Given the description of an element on the screen output the (x, y) to click on. 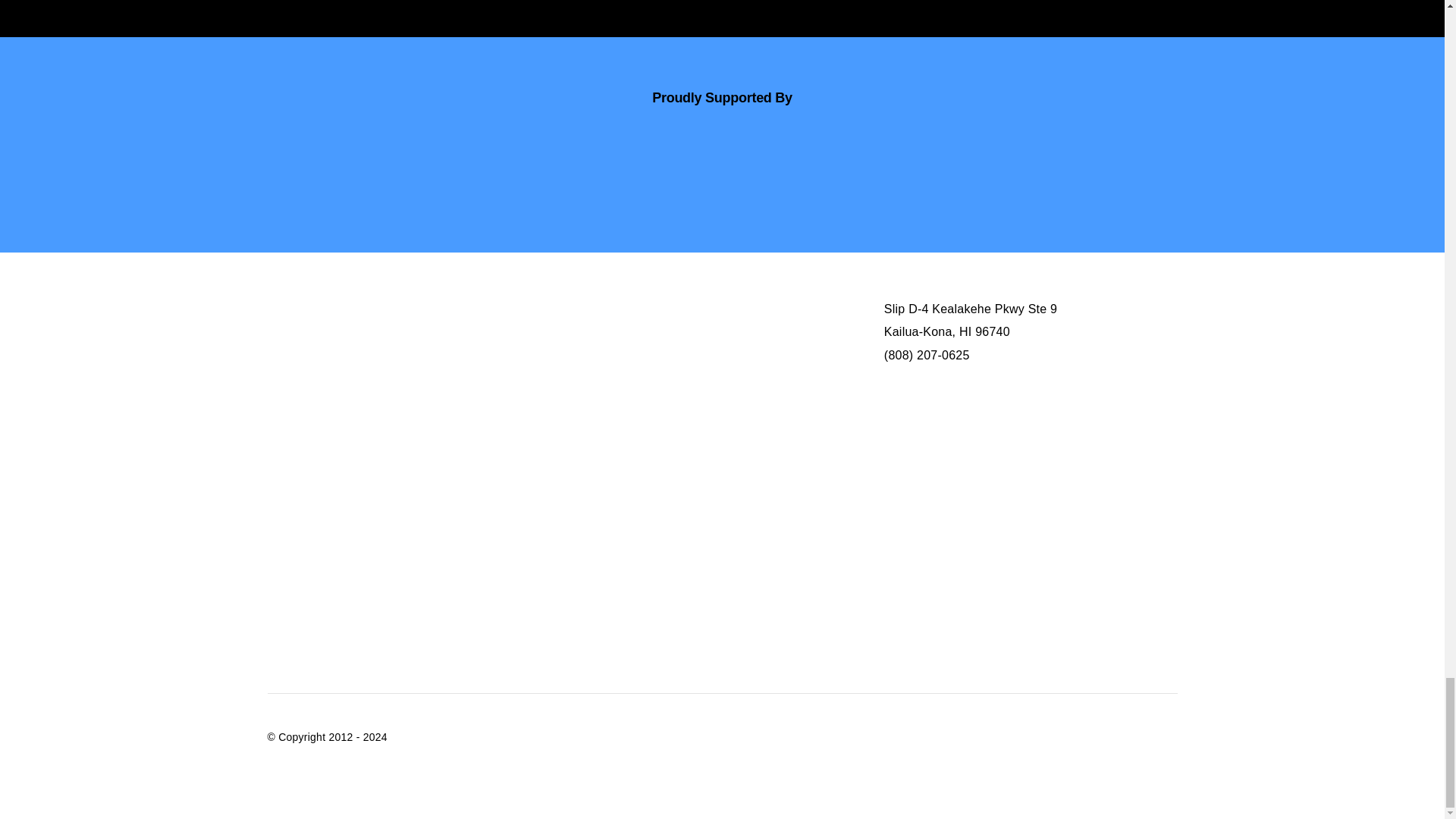
embedded content 2 (1045, 499)
